Given the description of an element on the screen output the (x, y) to click on. 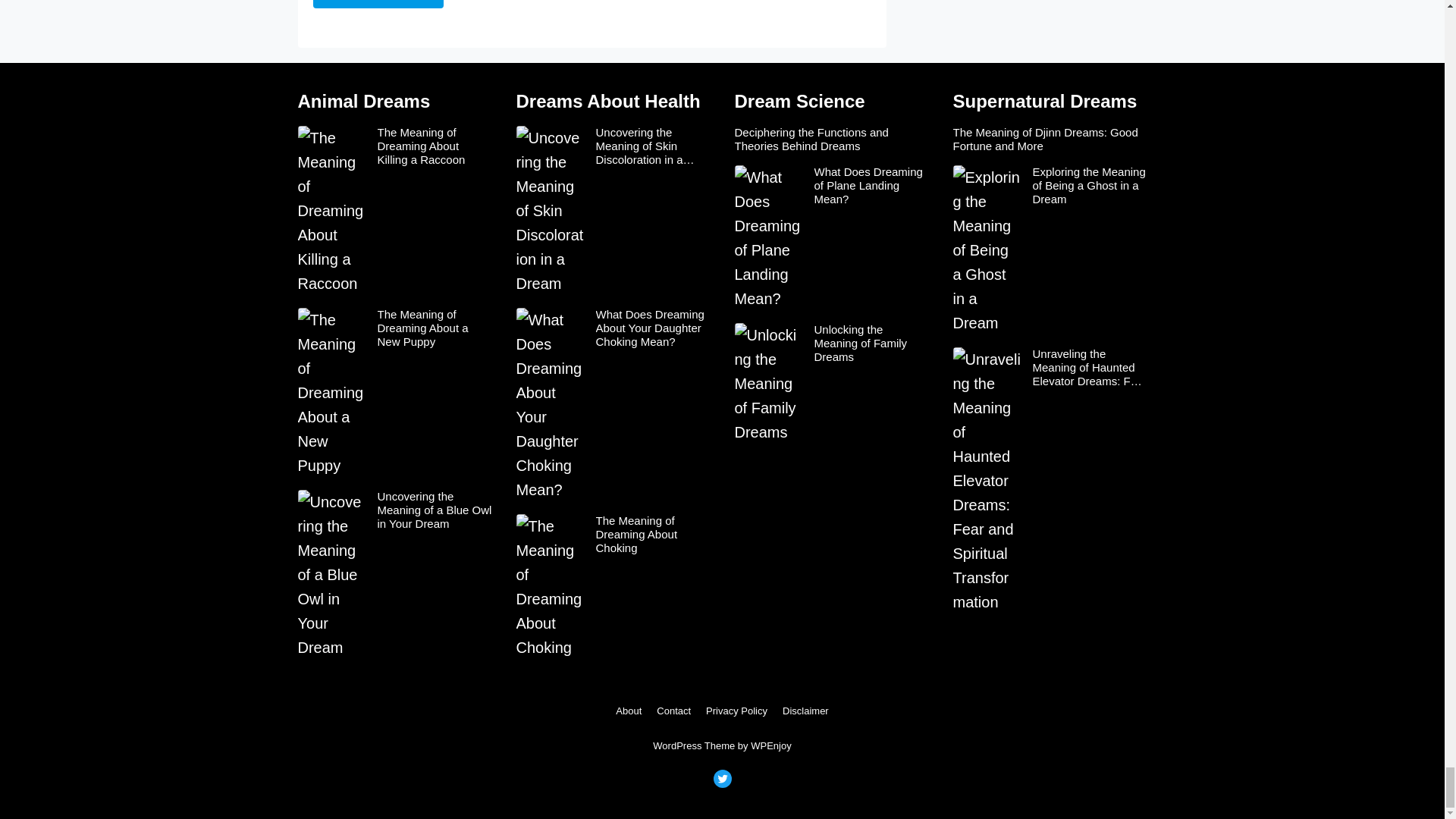
Post Comment (377, 4)
